Given the description of an element on the screen output the (x, y) to click on. 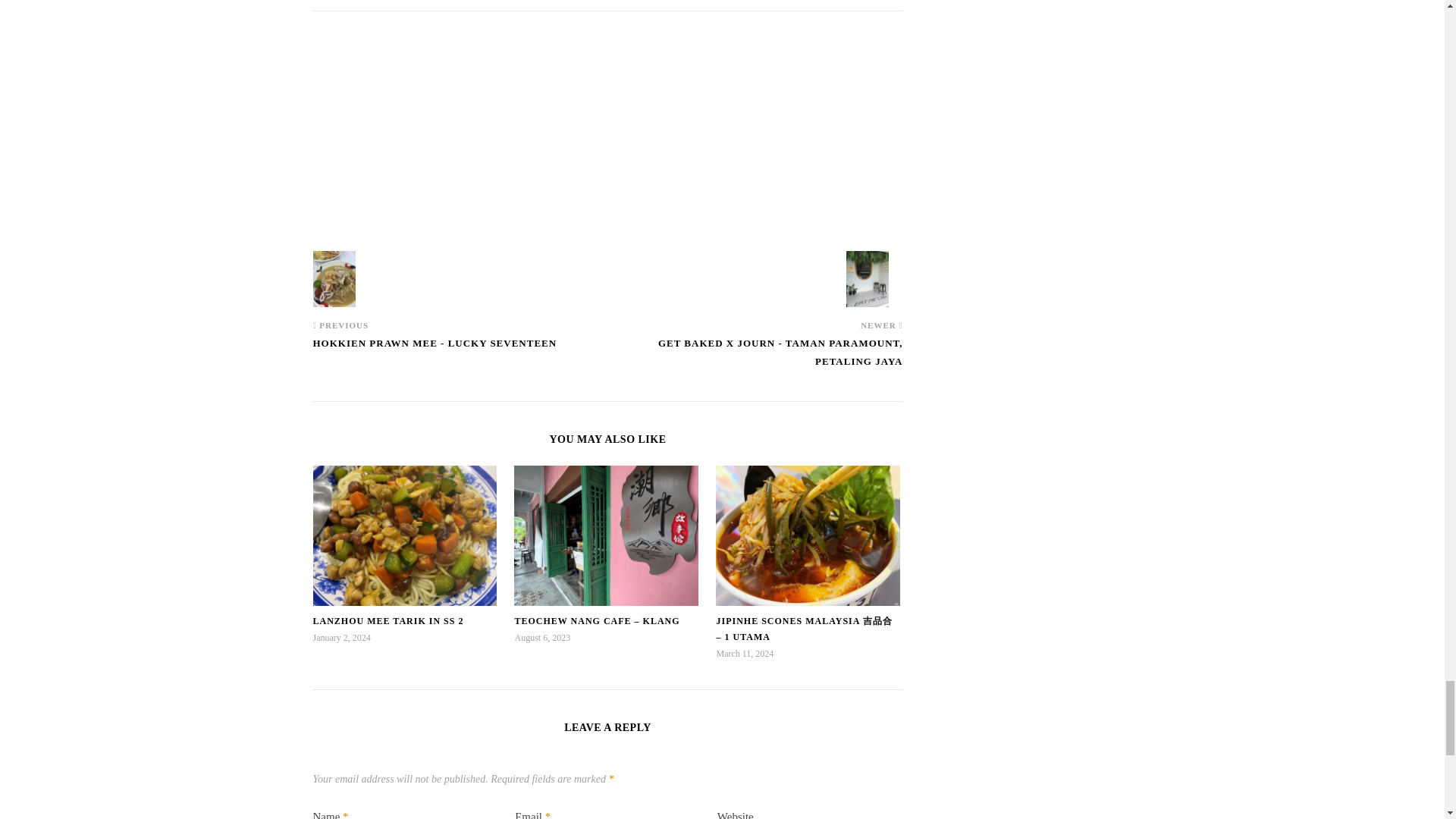
Hokkien Prawn Mee - Lucky Seventeen (434, 350)
Hokkien Prawn Mee - Lucky Seventeen (341, 278)
Get Baked x Journ - Taman Paramount, Petaling Jaya (873, 278)
Get Baked x Journ - Taman Paramount, Petaling Jaya (755, 359)
